Given the description of an element on the screen output the (x, y) to click on. 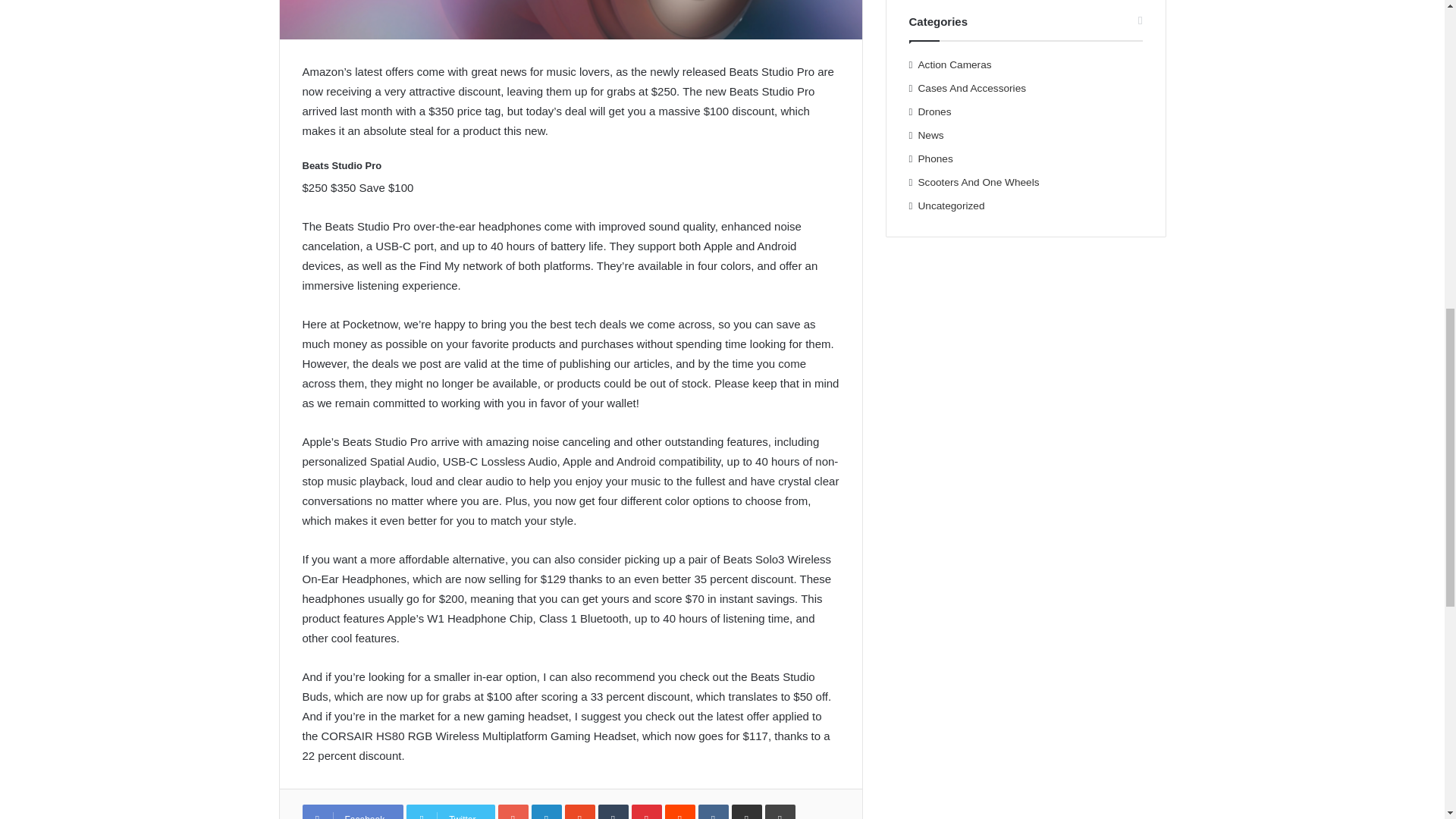
Pinterest (646, 811)
Reddit (680, 811)
Twitter (450, 811)
Tumblr (613, 811)
Print (779, 811)
LinkedIn (546, 811)
Share via Email (746, 811)
VKontakte (713, 811)
StumbleUpon (579, 811)
Facebook (352, 811)
